Given the description of an element on the screen output the (x, y) to click on. 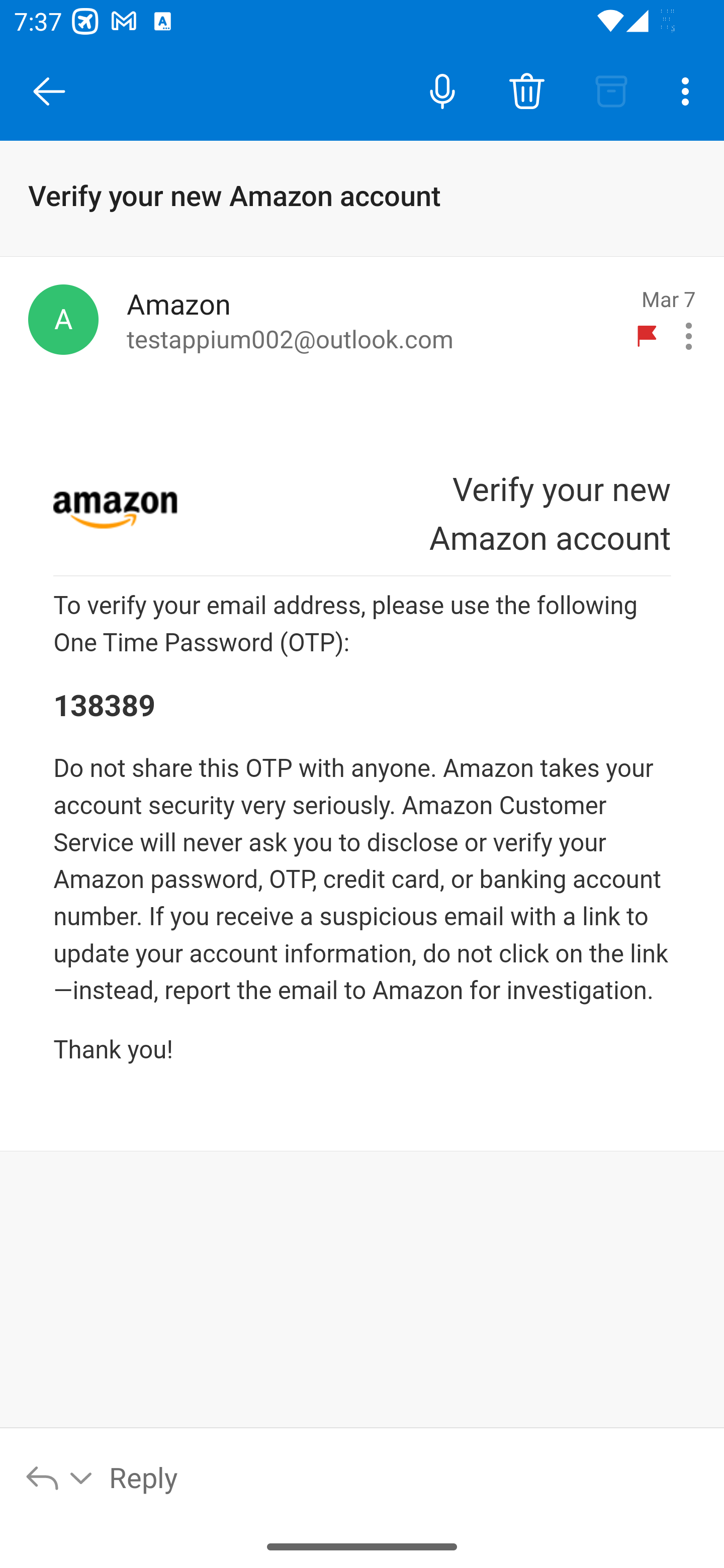
Close (49, 91)
Delete (526, 90)
Archive (611, 90)
More options (688, 90)
Amazon, account-update@amazon.com (63, 318)
Amazon
to testappium002@outlook.com (372, 319)
Message actions (688, 336)
Reply options (59, 1476)
